Given the description of an element on the screen output the (x, y) to click on. 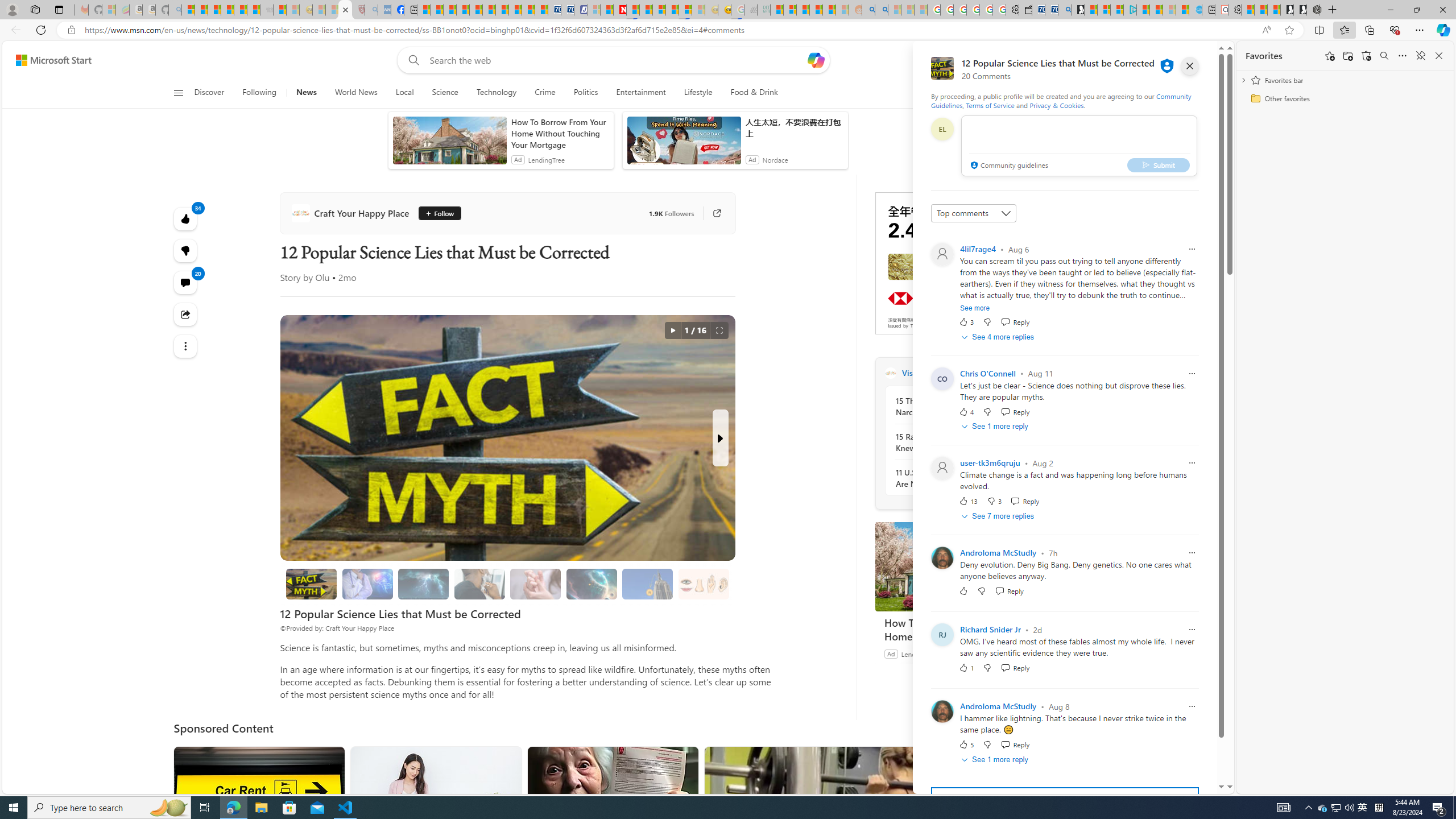
AutomationID: canvas (960, 263)
Craft Your Happy Place (889, 372)
Reply Reply Comment (1015, 744)
Add folder (1347, 55)
Search favorites (1383, 55)
13 Like (967, 500)
Cheap Hotels - Save70.com (567, 9)
